Given the description of an element on the screen output the (x, y) to click on. 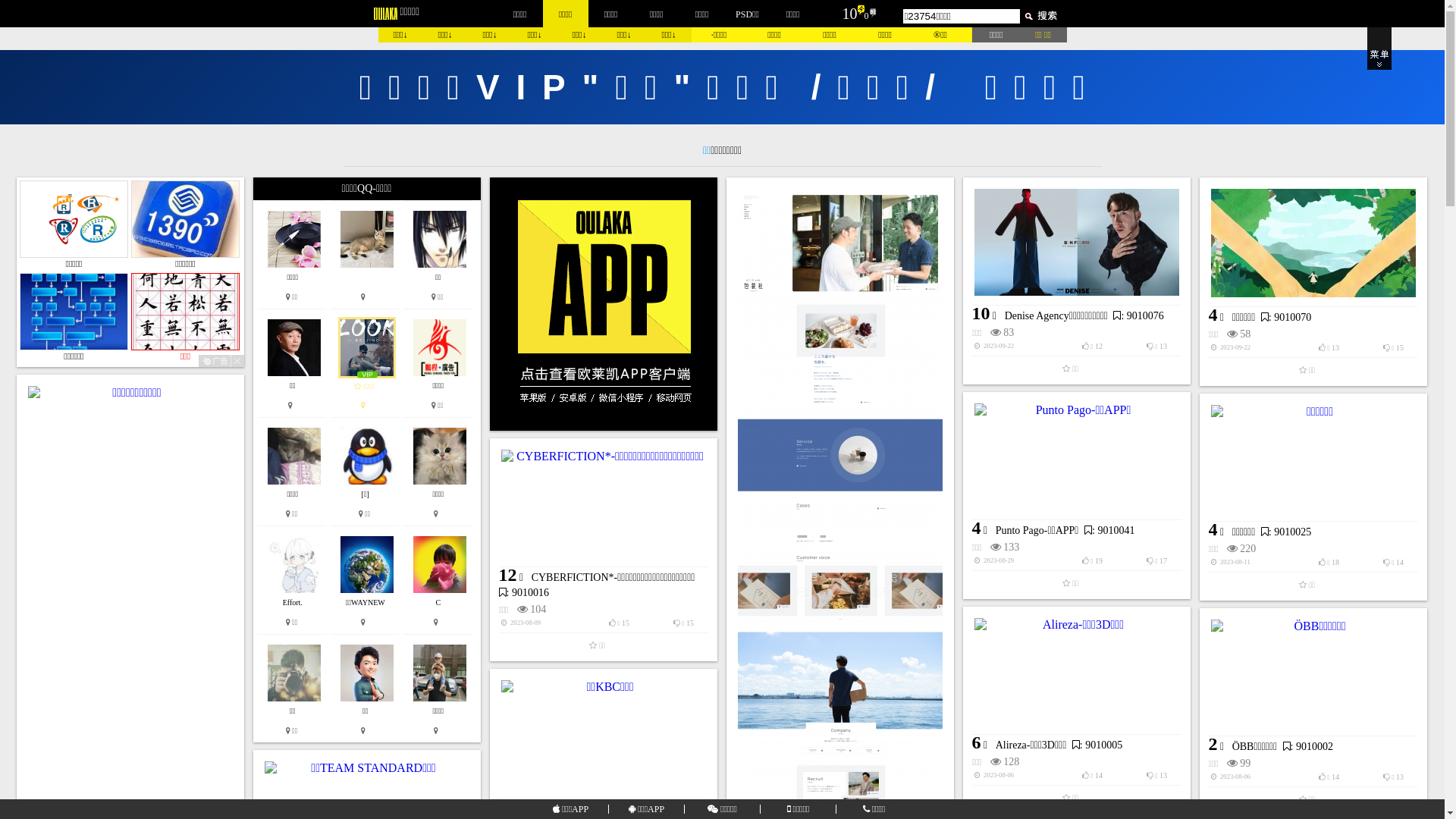
0 Element type: text (866, 15)
10 Element type: text (848, 13)
